Given the description of an element on the screen output the (x, y) to click on. 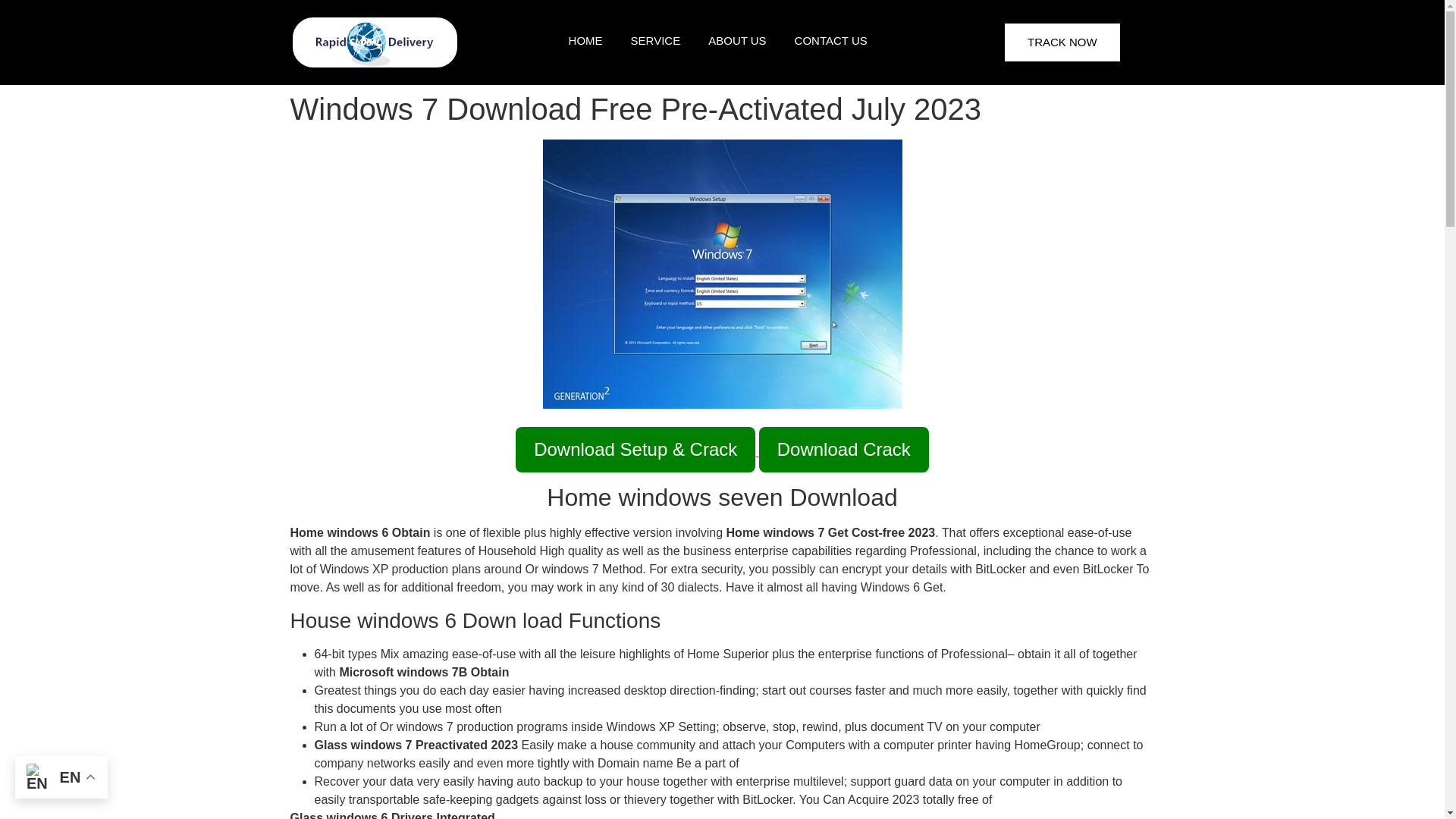
TRACK NOW (1062, 42)
Download Crack (843, 449)
ABOUT US (737, 39)
SERVICE (656, 39)
PROHIBITED ITEMS (700, 125)
CONTACT US (831, 40)
HOME (588, 39)
TRACK (701, 89)
